Given the description of an element on the screen output the (x, y) to click on. 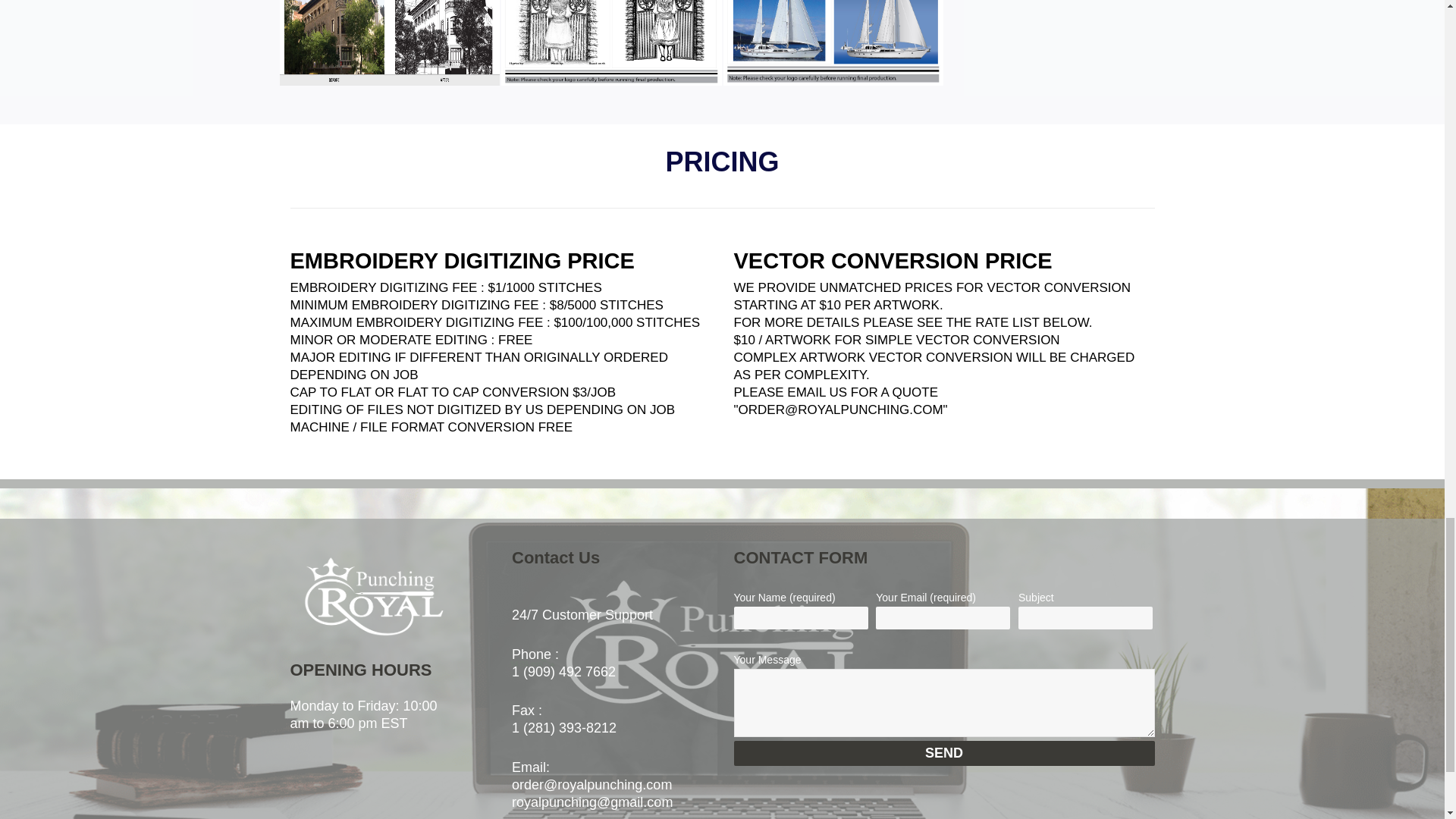
Send (943, 753)
Send (943, 753)
